Given the description of an element on the screen output the (x, y) to click on. 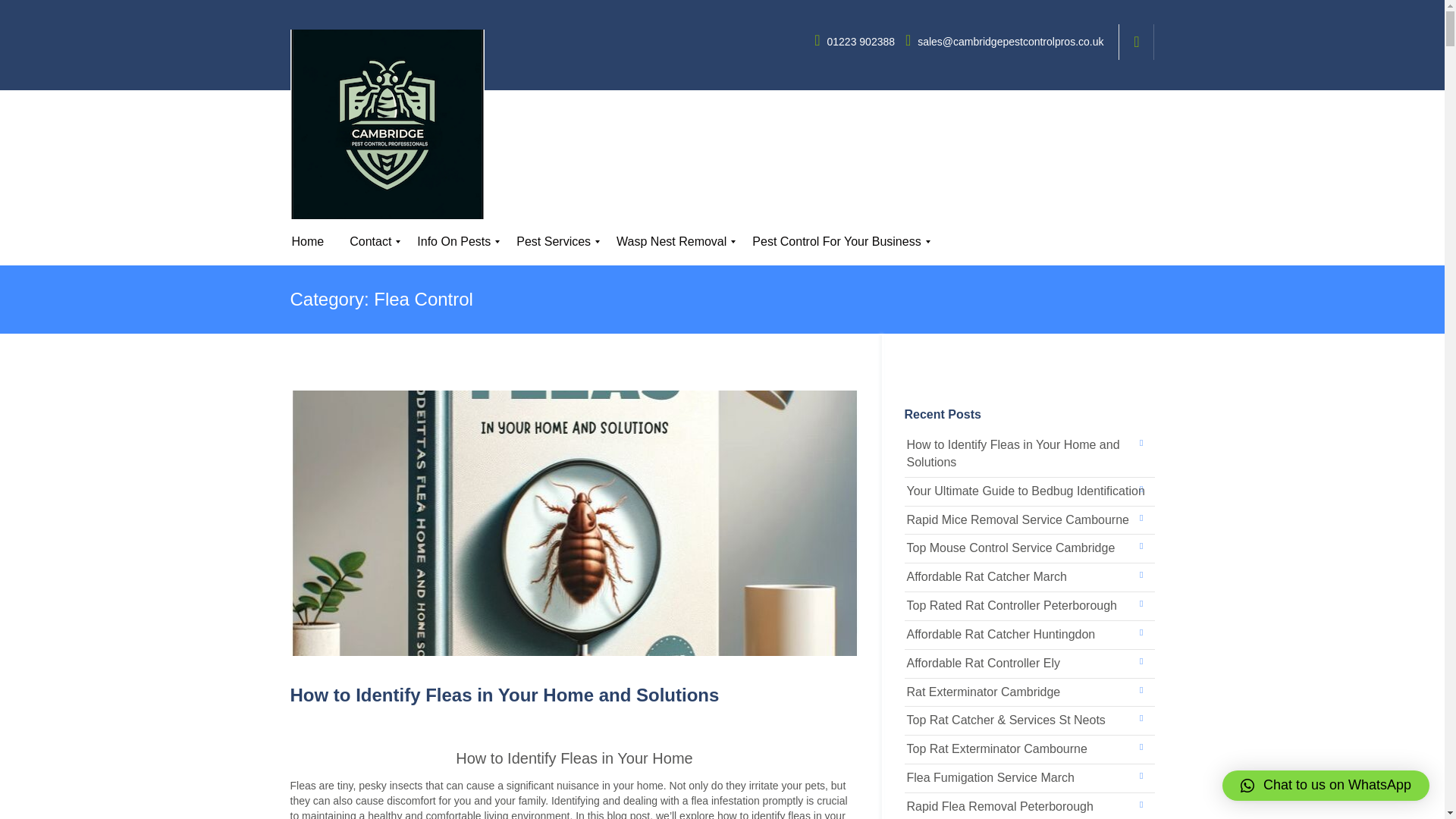
Wasp Nest Removal (671, 241)
Pest Services (553, 241)
01223 902388 (855, 41)
Home (308, 241)
Contact (370, 245)
Contact (370, 241)
Info On Pests (453, 241)
Search (1141, 242)
